Given the description of an element on the screen output the (x, y) to click on. 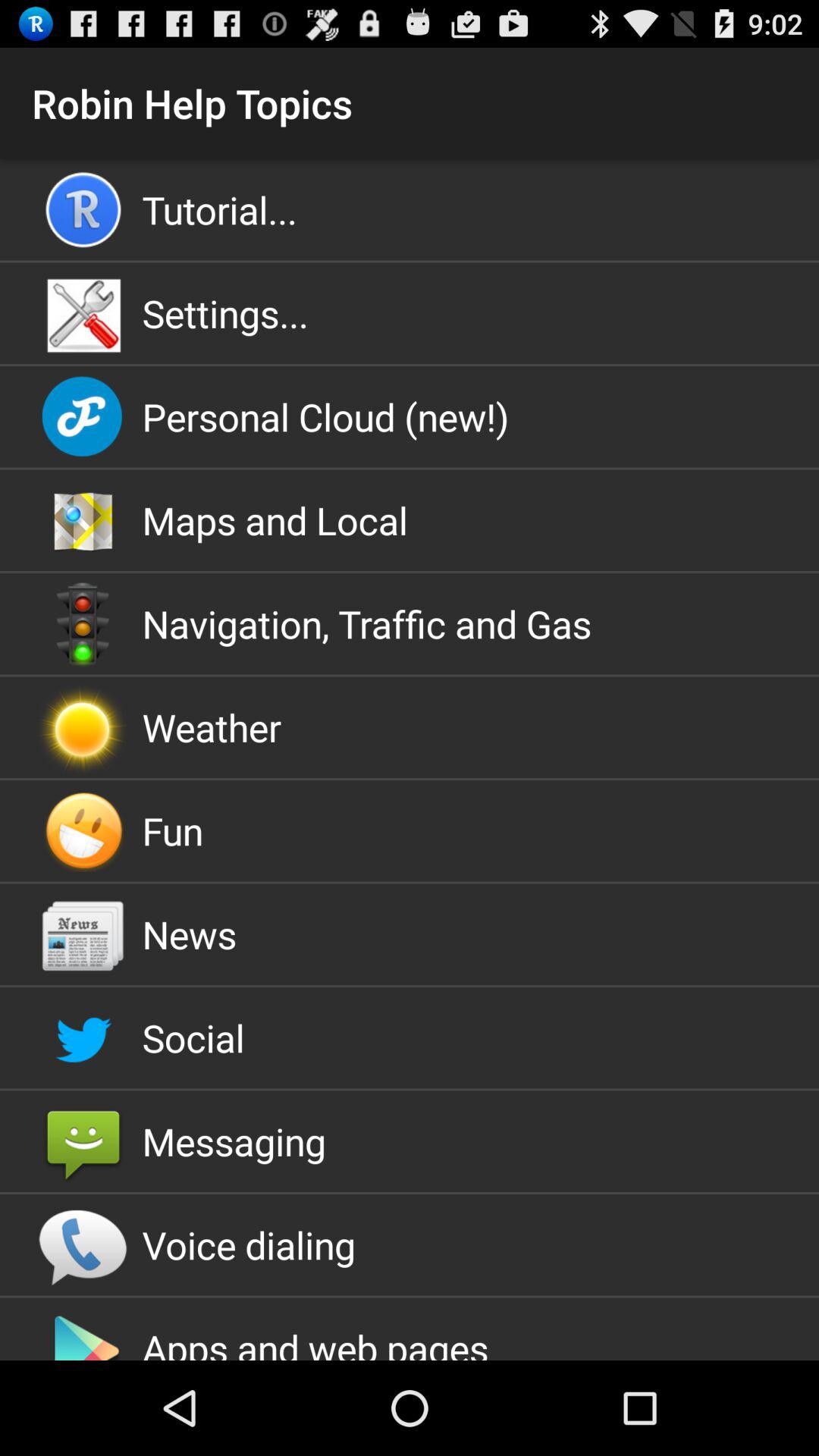
turn off icon below  social item (409, 1141)
